Given the description of an element on the screen output the (x, y) to click on. 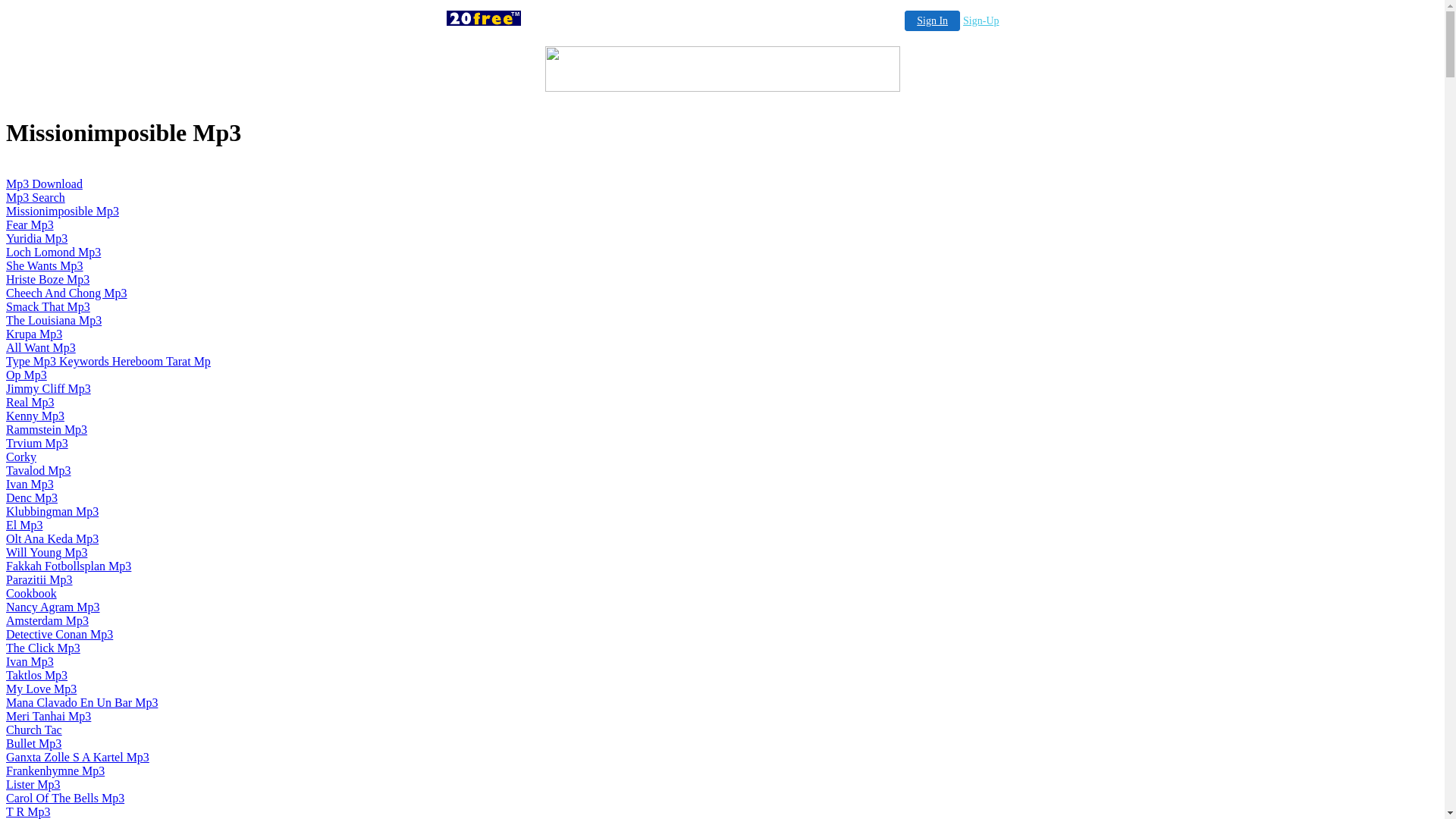
Missionimposible Mp3 Element type: text (62, 210)
Detective Conan Mp3 Element type: text (59, 633)
My Love Mp3 Element type: text (41, 688)
Carol Of The Bells Mp3 Element type: text (65, 797)
Church Tac Element type: text (34, 729)
Trvium Mp3 Element type: text (37, 442)
Sign In Element type: text (932, 20)
Real Mp3 Element type: text (30, 401)
El Mp3 Element type: text (24, 524)
The Click Mp3 Element type: text (43, 647)
Krupa Mp3 Element type: text (34, 333)
The Louisiana Mp3 Element type: text (53, 319)
Op Mp3 Element type: text (26, 374)
Cookbook Element type: text (31, 592)
Olt Ana Keda Mp3 Element type: text (52, 538)
Jimmy Cliff Mp3 Element type: text (48, 388)
Loch Lomond Mp3 Element type: text (53, 251)
Yuridia Mp3 Element type: text (36, 238)
Will Young Mp3 Element type: text (46, 552)
Ivan Mp3 Element type: text (29, 661)
Parazitii Mp3 Element type: text (39, 579)
Ivan Mp3 Element type: text (29, 483)
Mp3 Search Element type: text (35, 197)
T R Mp3 Element type: text (28, 811)
Hriste Boze Mp3 Element type: text (47, 279)
Lister Mp3 Element type: text (33, 784)
Meri Tanhai Mp3 Element type: text (48, 715)
Bullet Mp3 Element type: text (33, 743)
Tavalod Mp3 Element type: text (38, 470)
Kenny Mp3 Element type: text (35, 415)
Klubbingman Mp3 Element type: text (52, 511)
Amsterdam Mp3 Element type: text (47, 620)
Fear Mp3 Element type: text (29, 224)
Cheech And Chong Mp3 Element type: text (66, 292)
Smack That Mp3 Element type: text (48, 306)
She Wants Mp3 Element type: text (44, 265)
Corky Element type: text (21, 456)
Sign-Up Element type: text (980, 20)
Taktlos Mp3 Element type: text (36, 674)
Type Mp3 Keywords Hereboom Tarat Mp Element type: text (108, 360)
Fakkah Fotbollsplan Mp3 Element type: text (68, 565)
Ganxta Zolle S A Kartel Mp3 Element type: text (77, 756)
Mp3 Download Element type: text (44, 183)
Rammstein Mp3 Element type: text (46, 429)
Mana Clavado En Un Bar Mp3 Element type: text (81, 702)
Frankenhymne Mp3 Element type: text (55, 770)
Nancy Agram Mp3 Element type: text (53, 606)
All Want Mp3 Element type: text (40, 347)
Denc Mp3 Element type: text (31, 497)
